Given the description of an element on the screen output the (x, y) to click on. 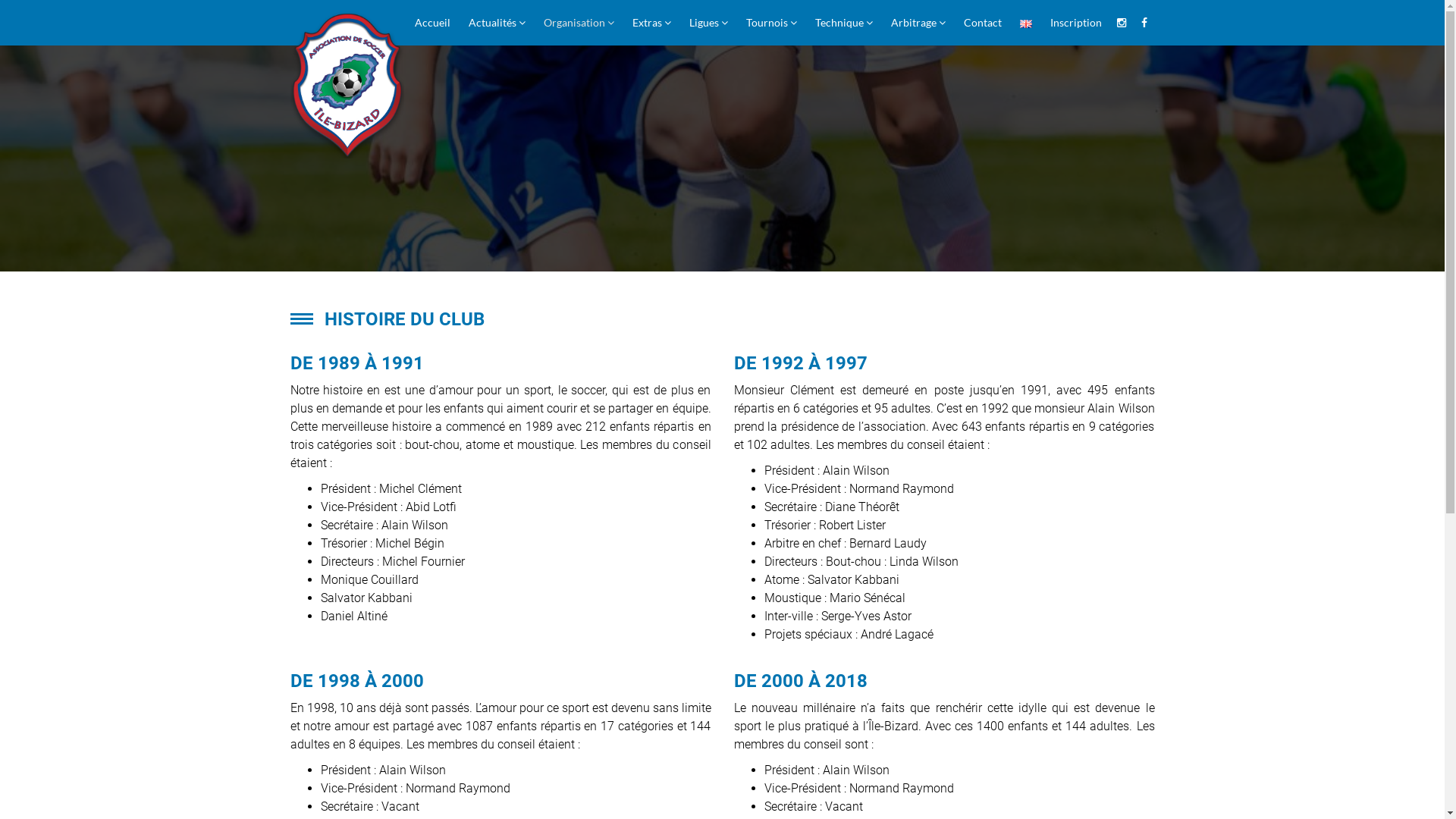
Ligues Element type: text (707, 22)
Technique Element type: text (842, 22)
Organisation Element type: text (578, 22)
Contact Element type: text (981, 22)
Tournois Element type: text (771, 22)
Accueil Element type: text (431, 22)
Arbitrage Element type: text (917, 22)
Inscription Element type: text (1074, 22)
Extras Element type: text (651, 22)
